Given the description of an element on the screen output the (x, y) to click on. 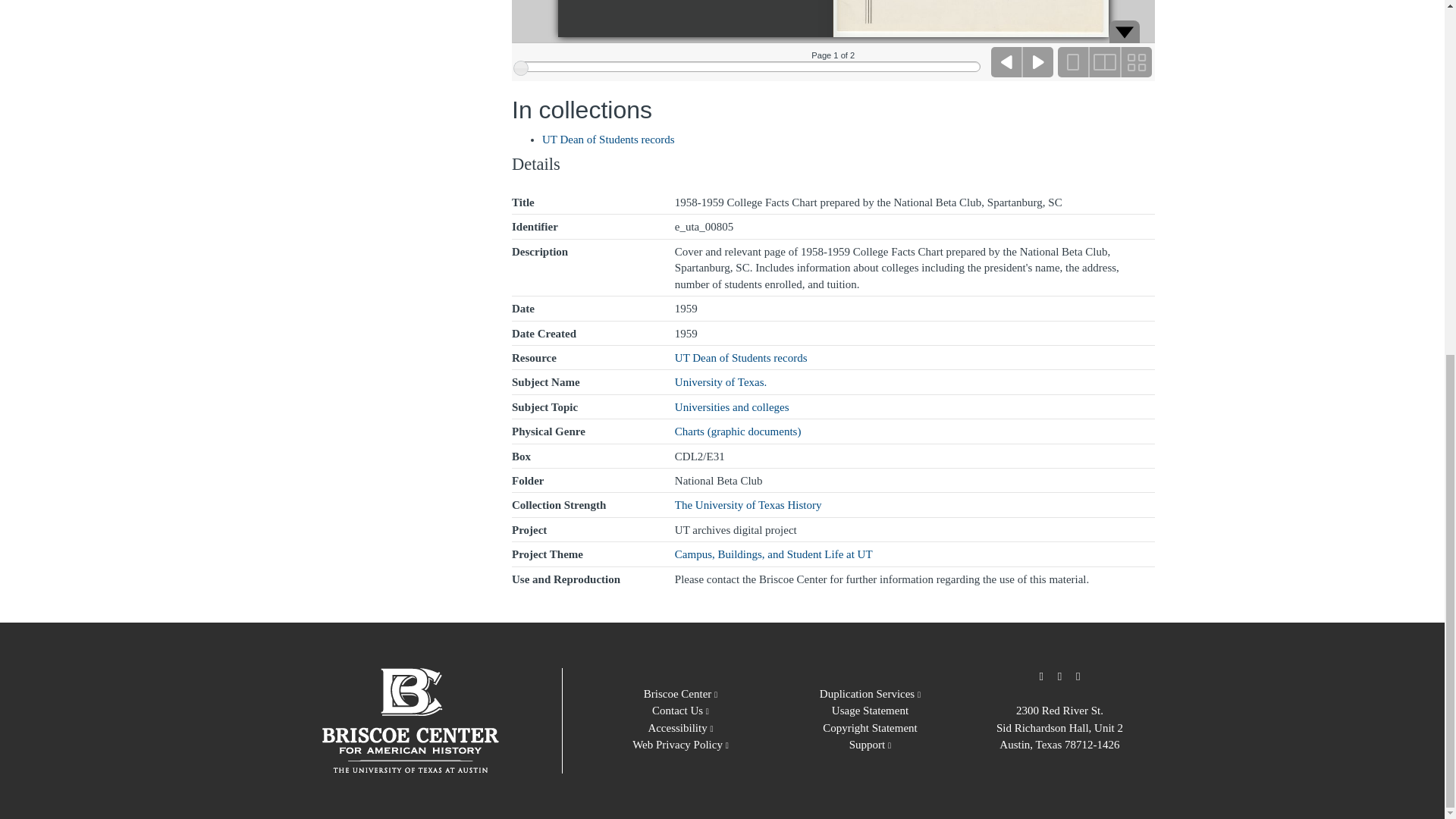
One-page view (1073, 61)
Thumbnail view (1135, 61)
Previous Page (1007, 61)
Two-page view (1104, 61)
Twitter (1040, 676)
Next Page (1037, 61)
